Given the description of an element on the screen output the (x, y) to click on. 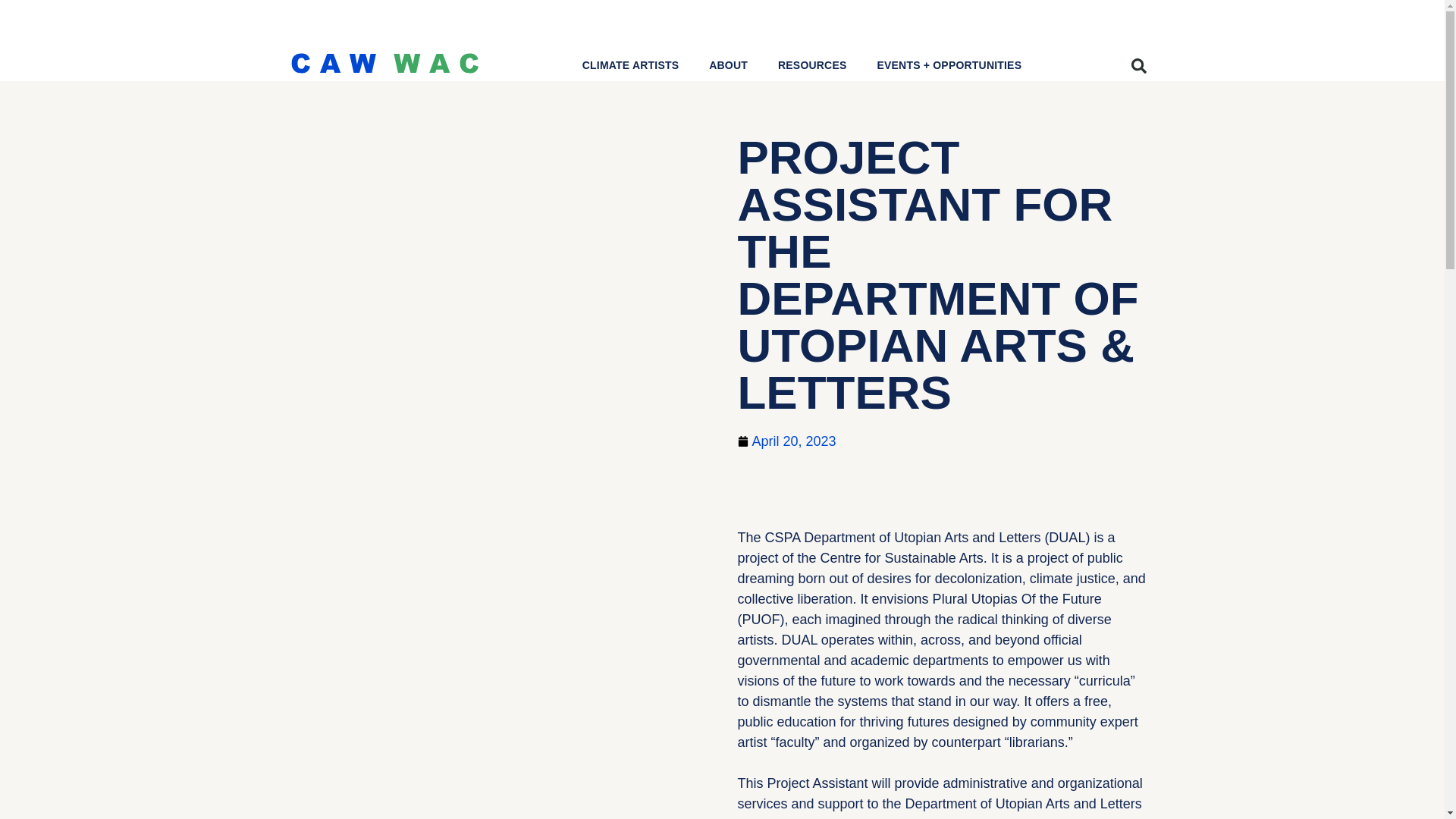
ABOUT (728, 65)
RESOURCES (811, 65)
CLIMATE ARTISTS (630, 65)
April 20, 2023 (785, 441)
